Given the description of an element on the screen output the (x, y) to click on. 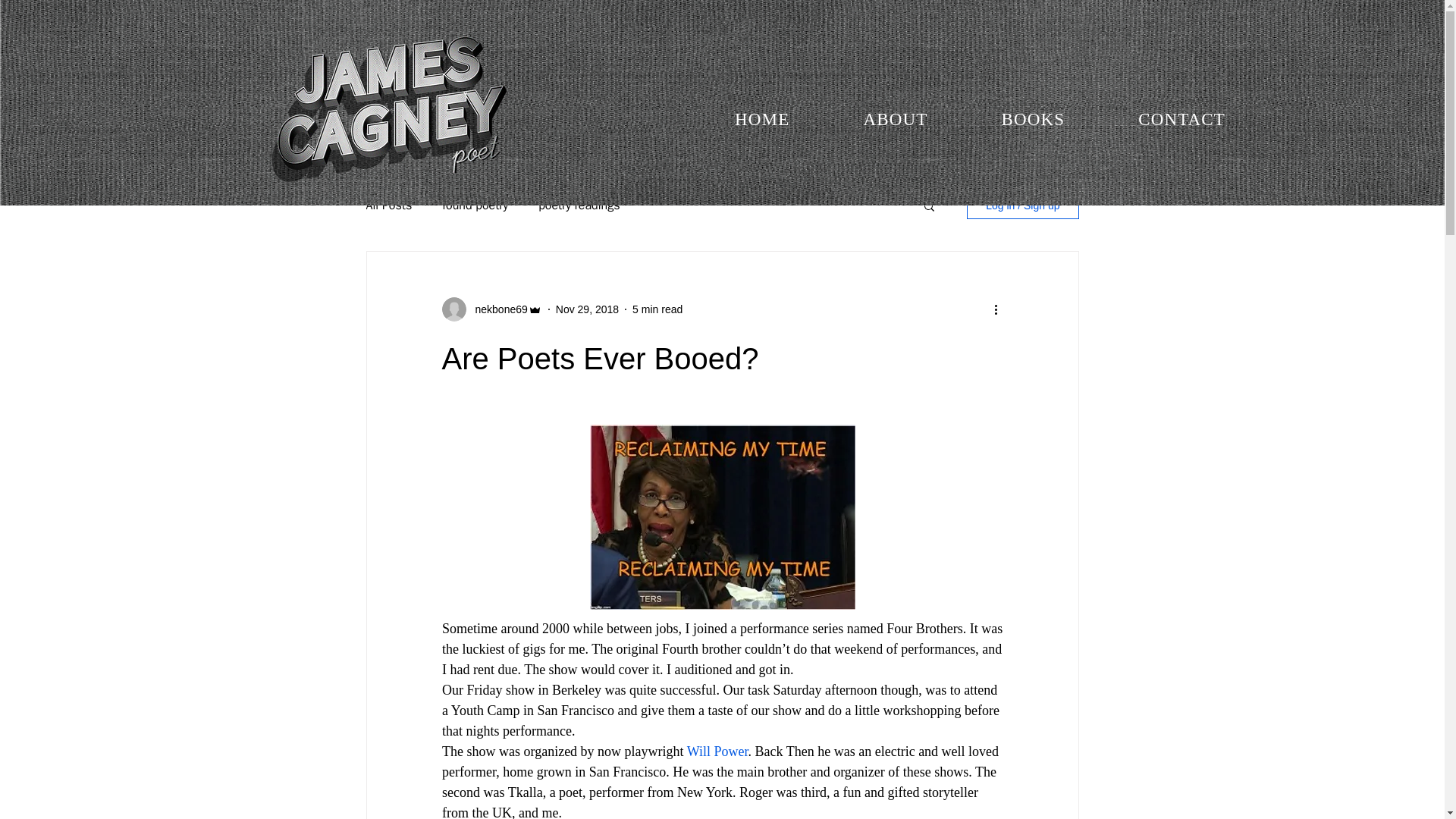
All Posts (388, 204)
BOOKS (1033, 119)
Will Power (716, 751)
ABOUT (894, 119)
HOME (761, 119)
5 min read (656, 309)
nekbone69 (496, 309)
Nov 29, 2018 (587, 309)
CONTACT (1182, 119)
found poetry (475, 204)
